Given the description of an element on the screen output the (x, y) to click on. 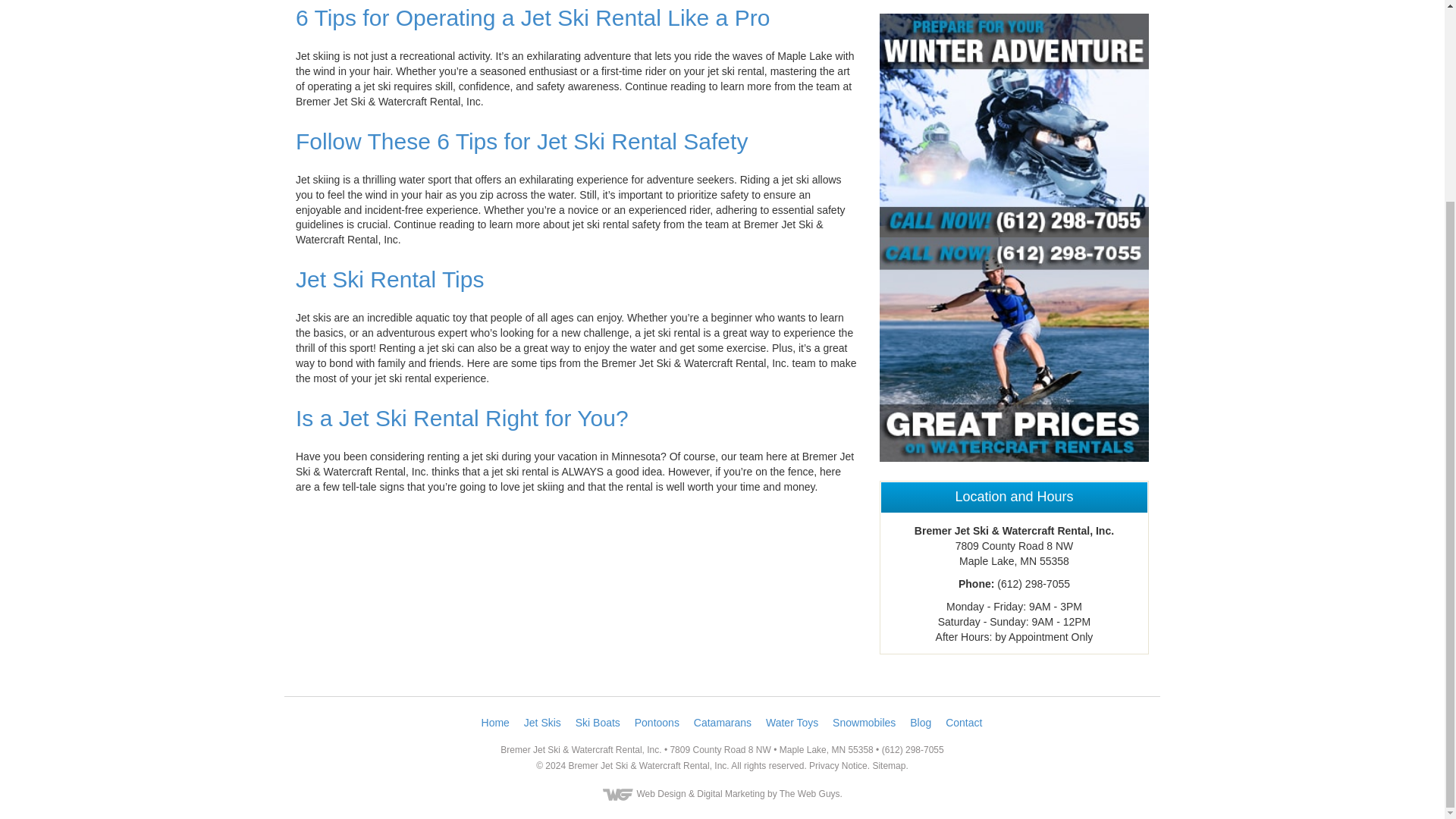
Jet Ski Rental Tips (389, 278)
6 Tips for Operating a Jet Ski Rental Like a Pro (532, 17)
Follow These 6 Tips for Jet Ski Rental Safety (521, 140)
